Given the description of an element on the screen output the (x, y) to click on. 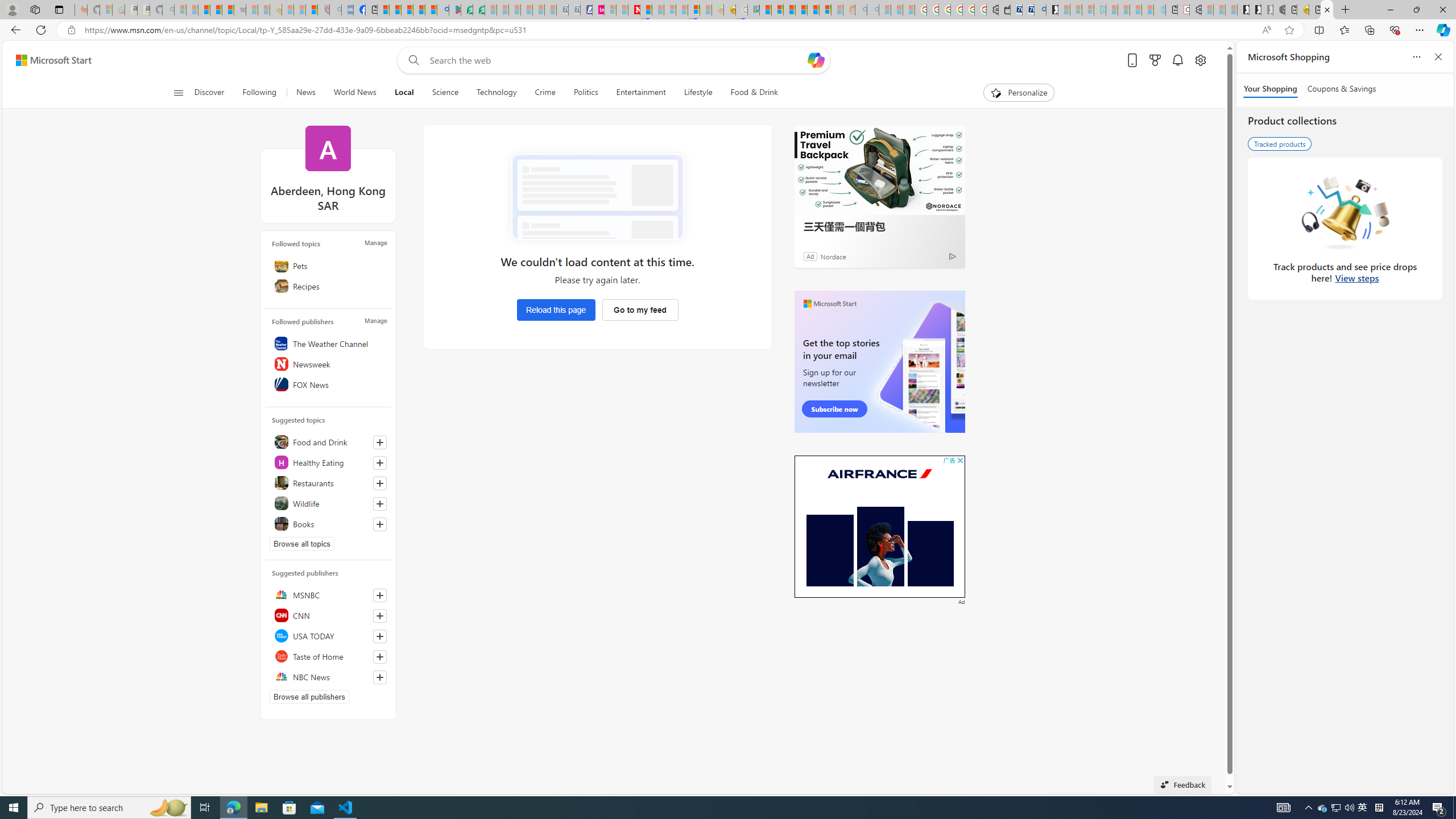
Politics (585, 92)
Newsweek (327, 363)
Wallet (1003, 9)
Browse all publishers (309, 696)
Pets - MSN (418, 9)
Play Free Online Games | Games from Microsoft Start (1242, 9)
USA TODAY (327, 635)
Kinda Frugal - MSN (813, 9)
